Given the description of an element on the screen output the (x, y) to click on. 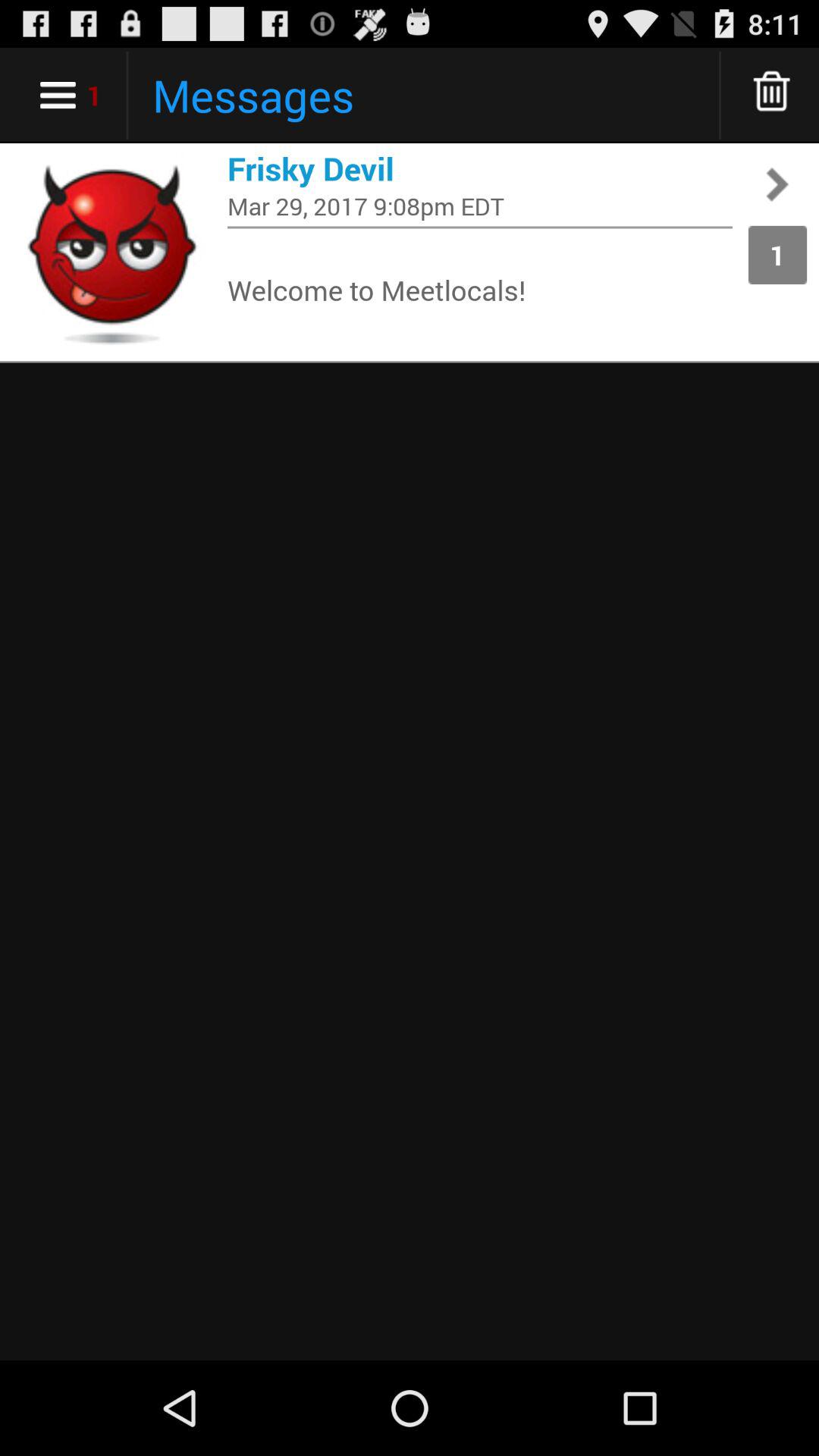
swipe to the welcome to meetlocals icon (479, 289)
